Given the description of an element on the screen output the (x, y) to click on. 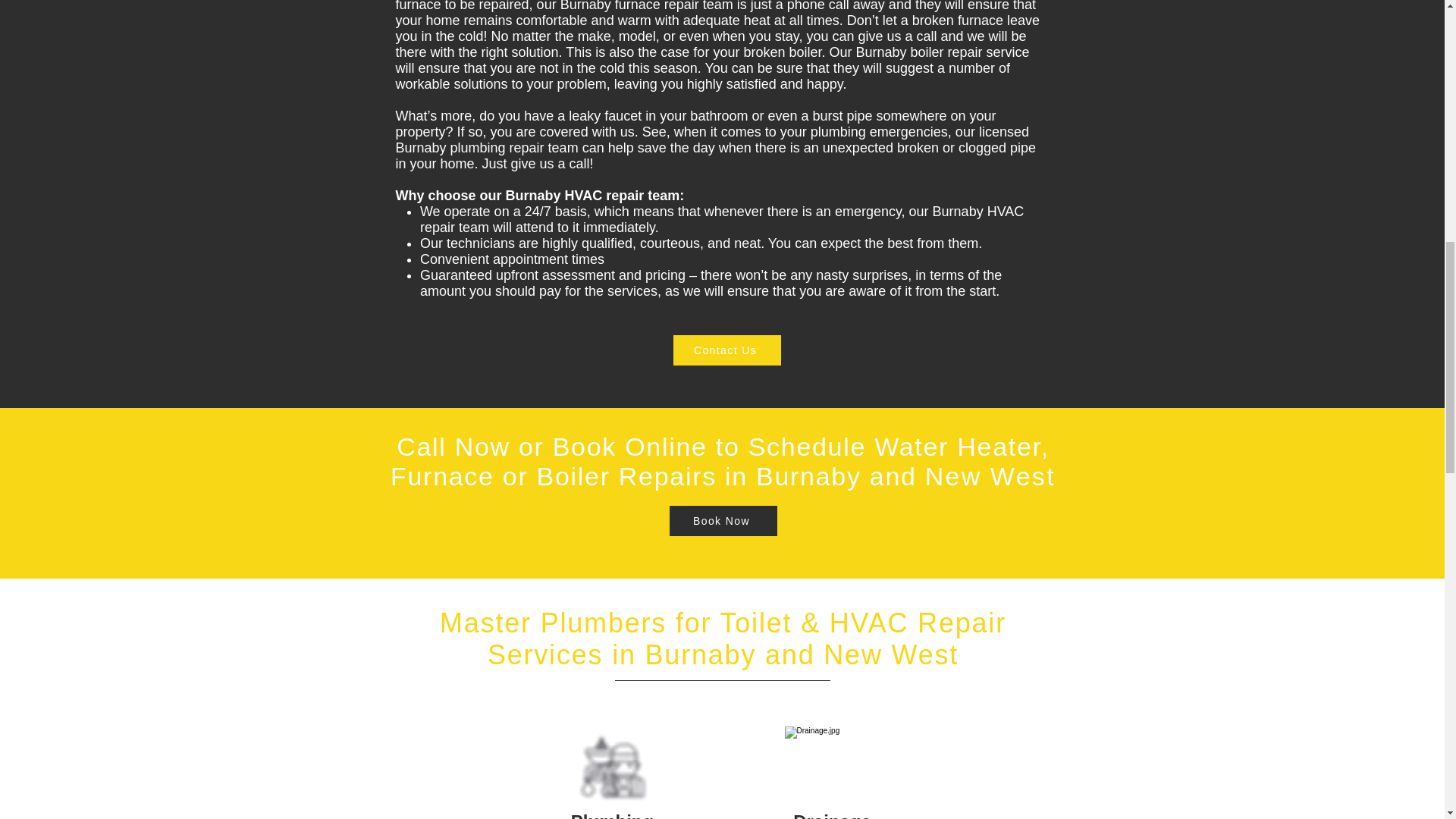
Book Now (722, 521)
Contact Us (726, 349)
